Given the description of an element on the screen output the (x, y) to click on. 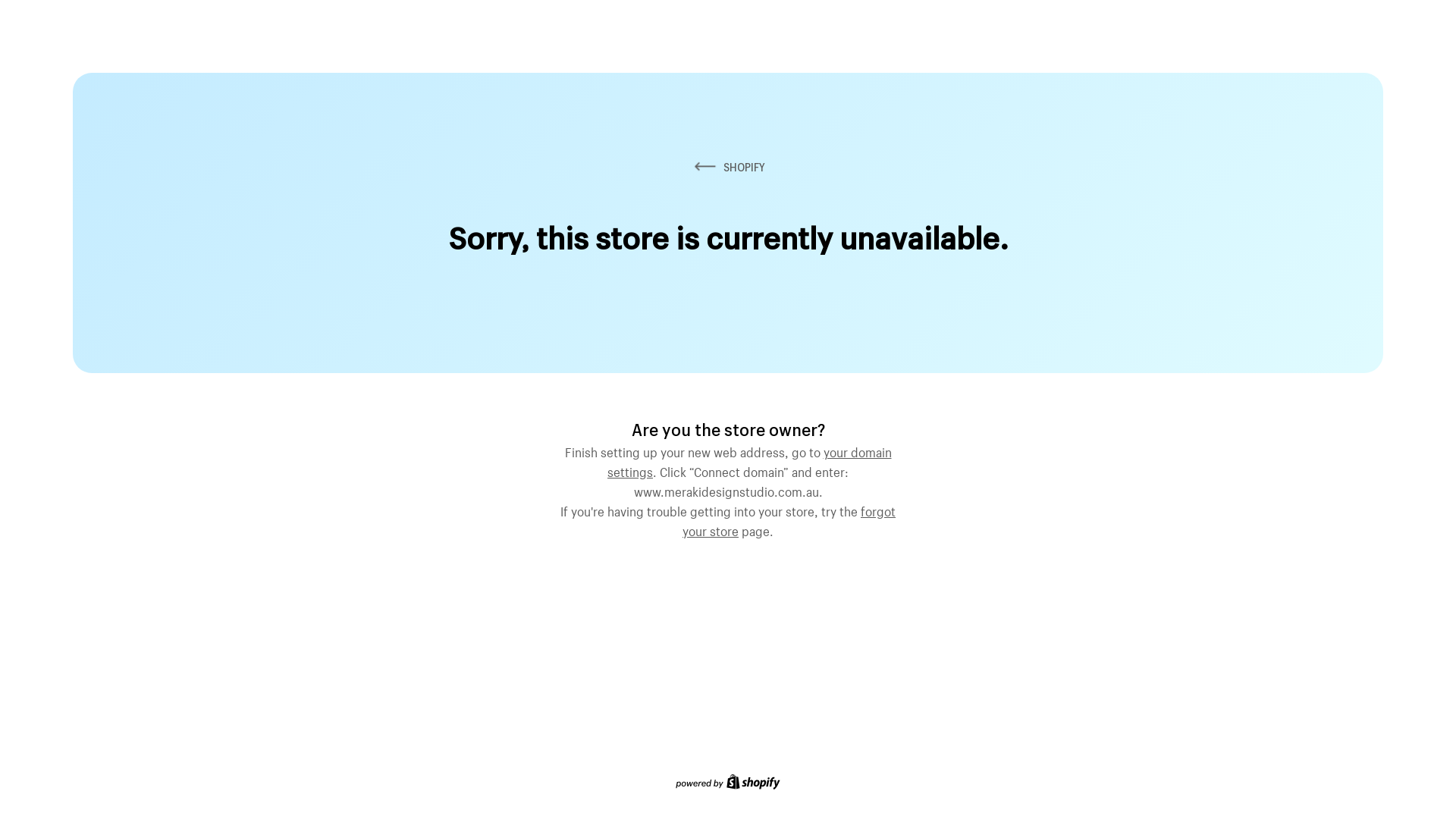
forgot your store Element type: text (788, 519)
your domain settings Element type: text (749, 460)
SHOPIFY Element type: text (727, 167)
